Given the description of an element on the screen output the (x, y) to click on. 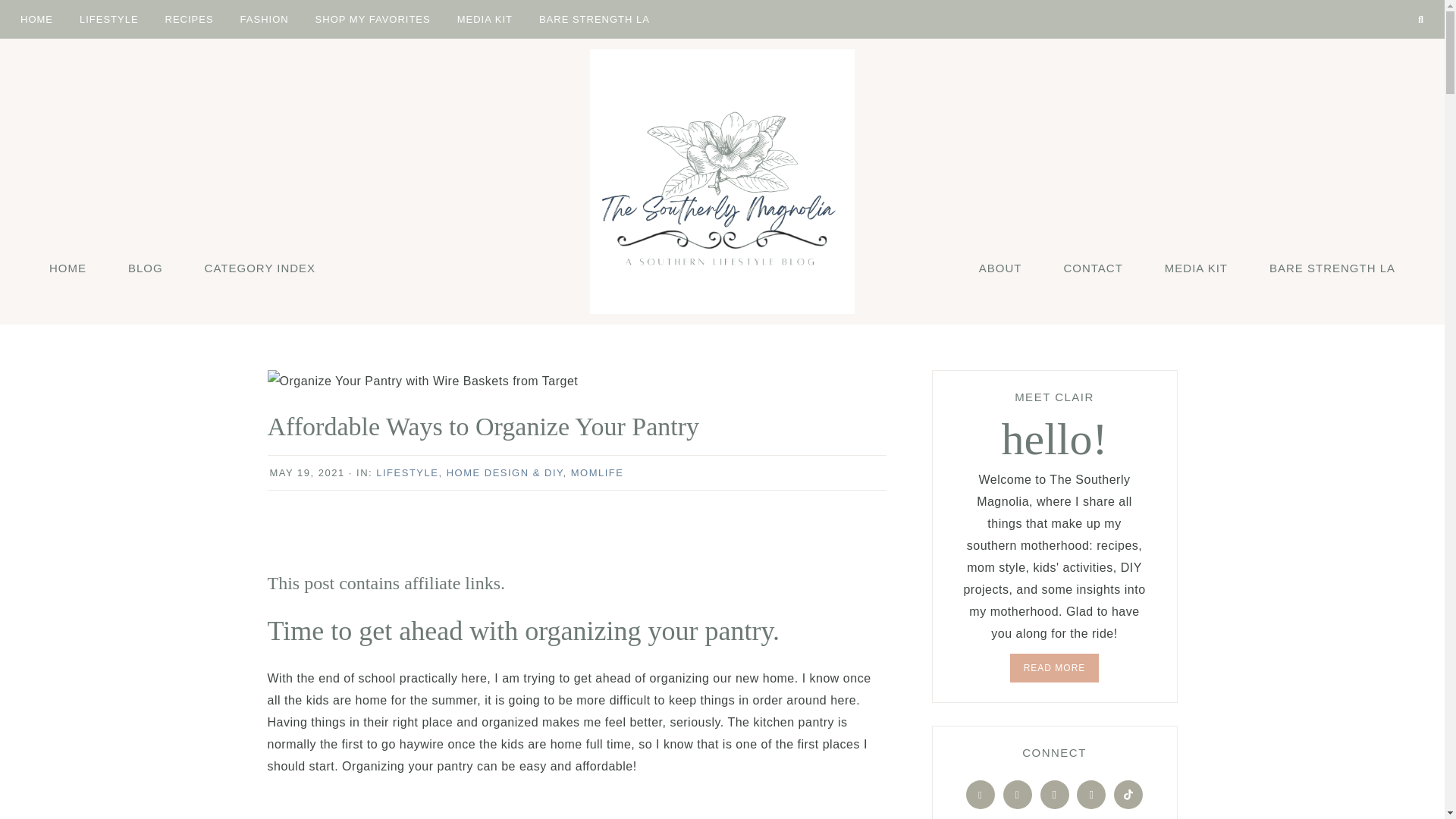
Pinterest (1384, 3)
FASHION (263, 18)
BARE STRENGTH LA (594, 18)
MEDIA KIT (484, 18)
Facebook (1361, 3)
Instagram (1397, 3)
RECIPES (189, 18)
HOME (36, 18)
Twitter (1372, 3)
LIFESTYLE (108, 18)
SHOP MY FAVORITES (373, 18)
